Given the description of an element on the screen output the (x, y) to click on. 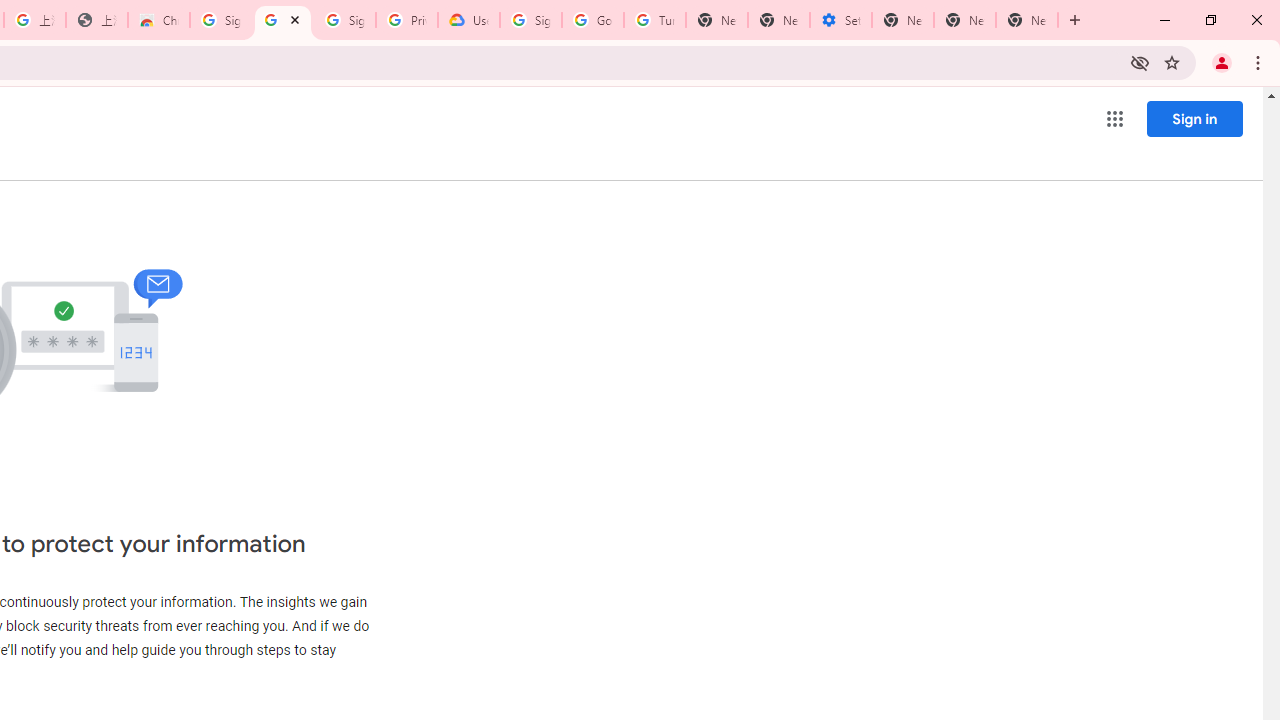
New Tab (1026, 20)
Turn cookies on or off - Computer - Google Account Help (654, 20)
Chrome Web Store - Color themes by Chrome (158, 20)
Sign in - Google Accounts (220, 20)
